Given the description of an element on the screen output the (x, y) to click on. 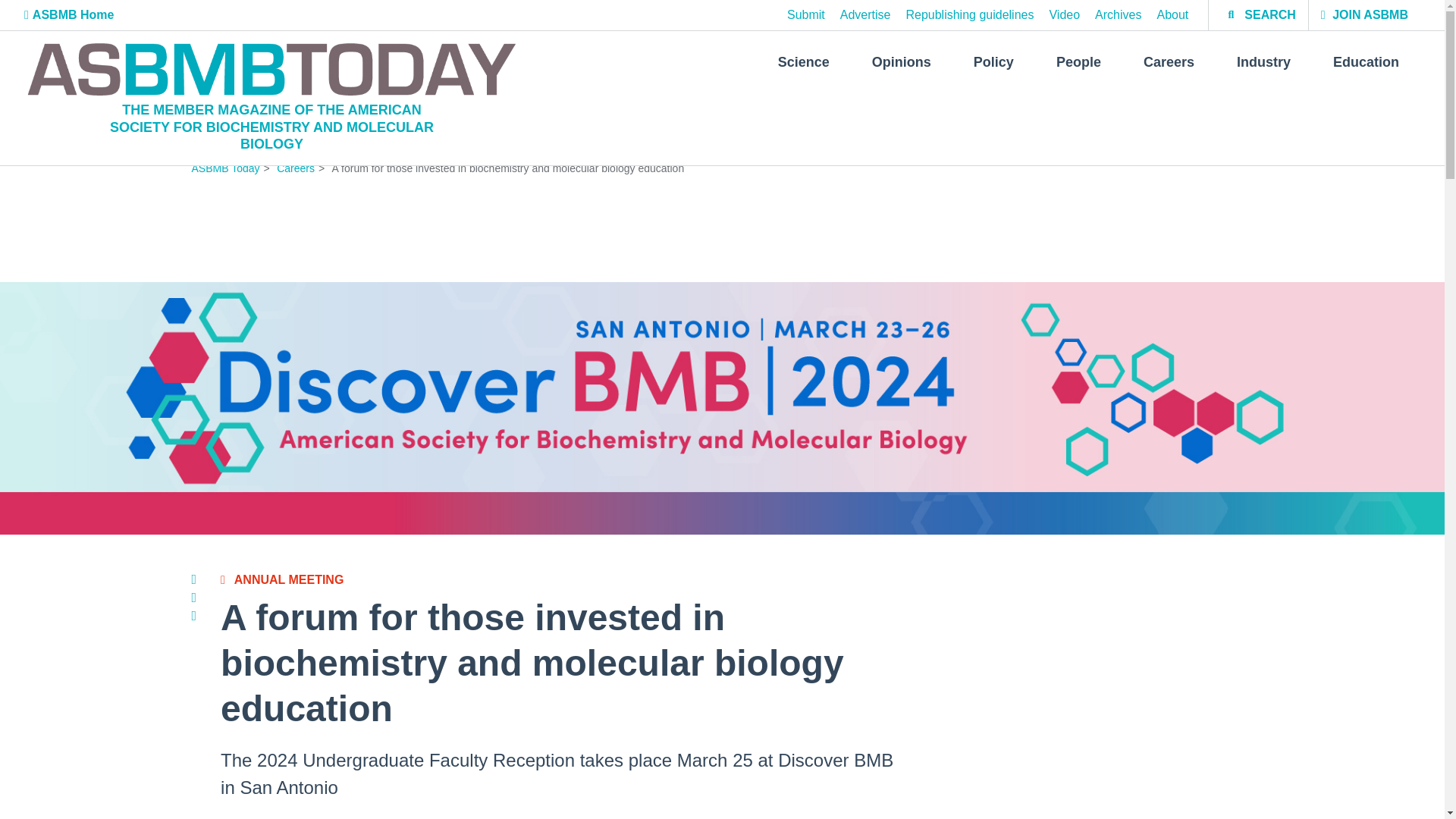
Submit (806, 15)
Republishing guidelines (969, 15)
Video (1064, 15)
Archives (1117, 15)
Advertise (865, 15)
JOIN ASBMB (1363, 15)
3rd party ad content (721, 223)
About (1172, 15)
ASBMB Home (68, 14)
